Given the description of an element on the screen output the (x, y) to click on. 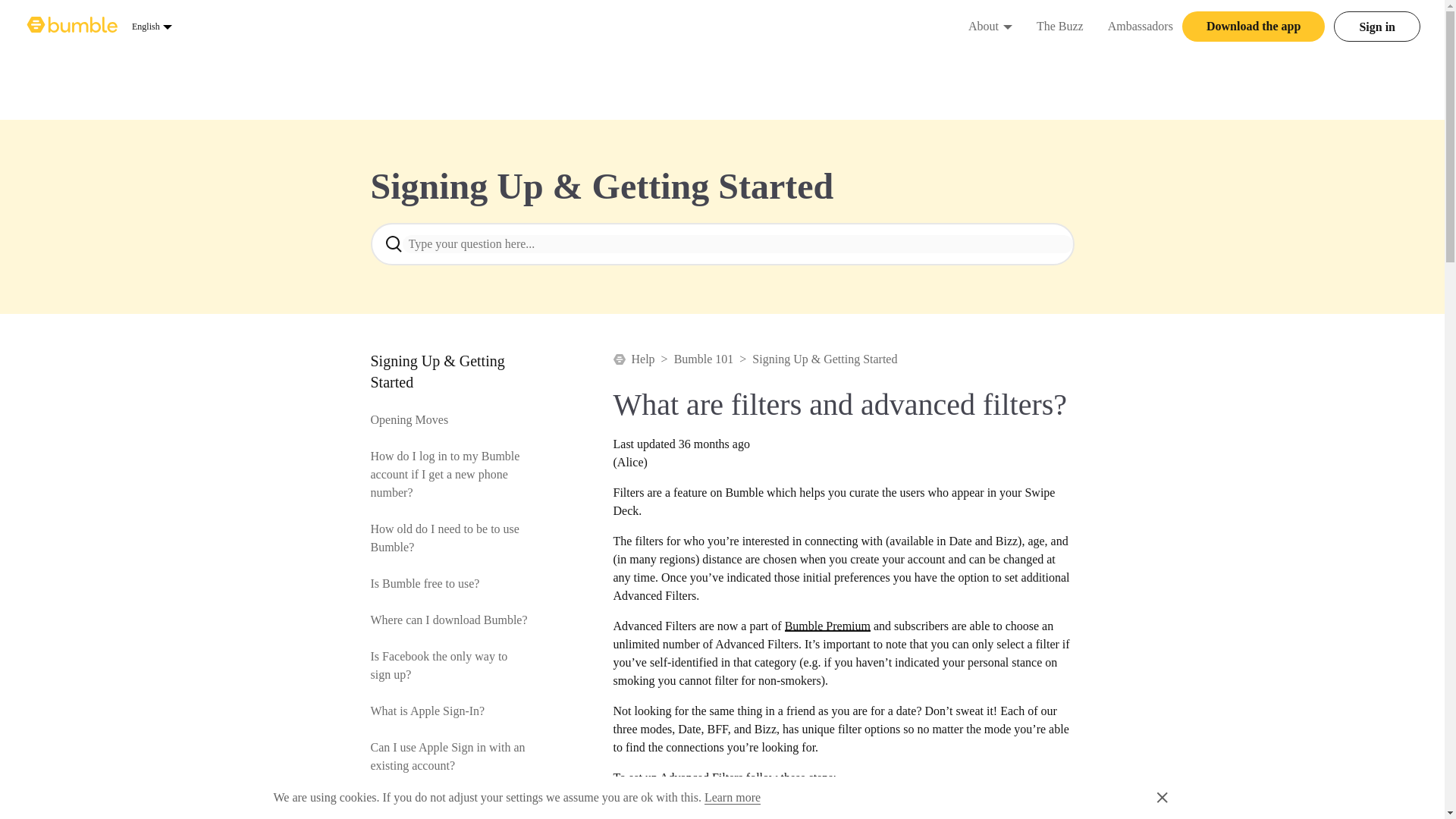
Bumble homepage (72, 25)
Download the app (151, 26)
About (1253, 26)
The Buzz (983, 26)
Expand About (1059, 26)
Ambassadors (1007, 26)
